Given the description of an element on the screen output the (x, y) to click on. 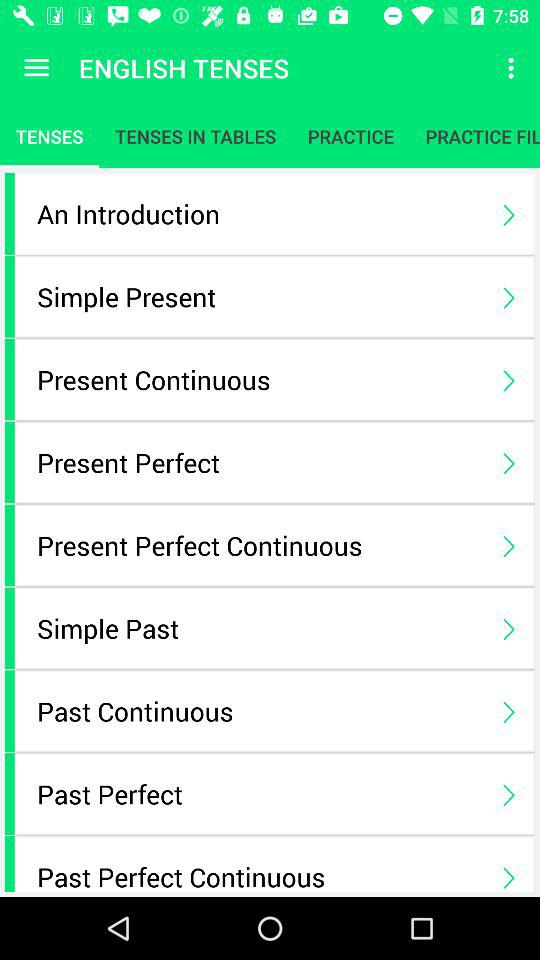
turn on the app to the left of the english tenses icon (36, 68)
